Given the description of an element on the screen output the (x, y) to click on. 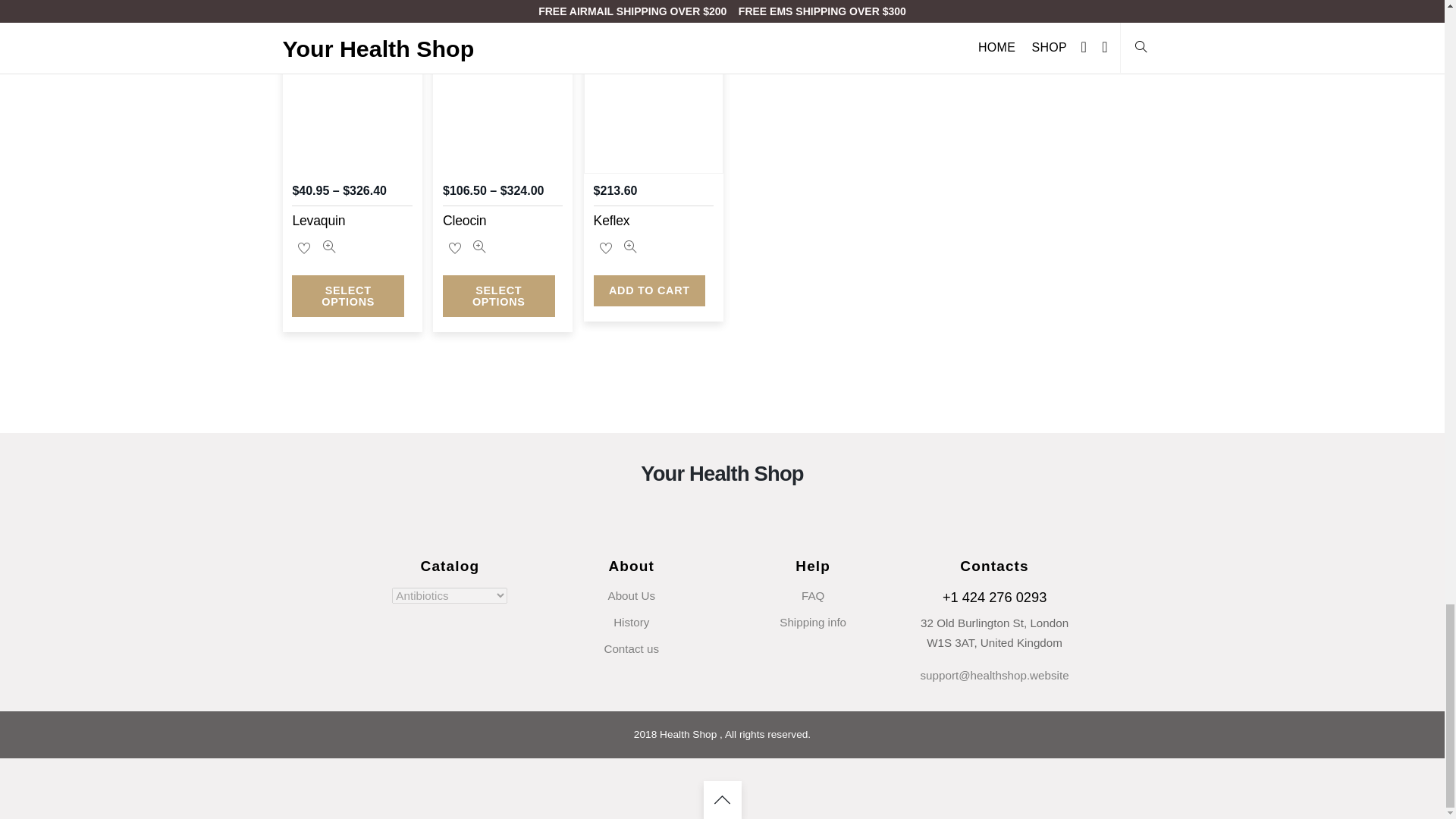
Your Health Shop (721, 473)
